Given the description of an element on the screen output the (x, y) to click on. 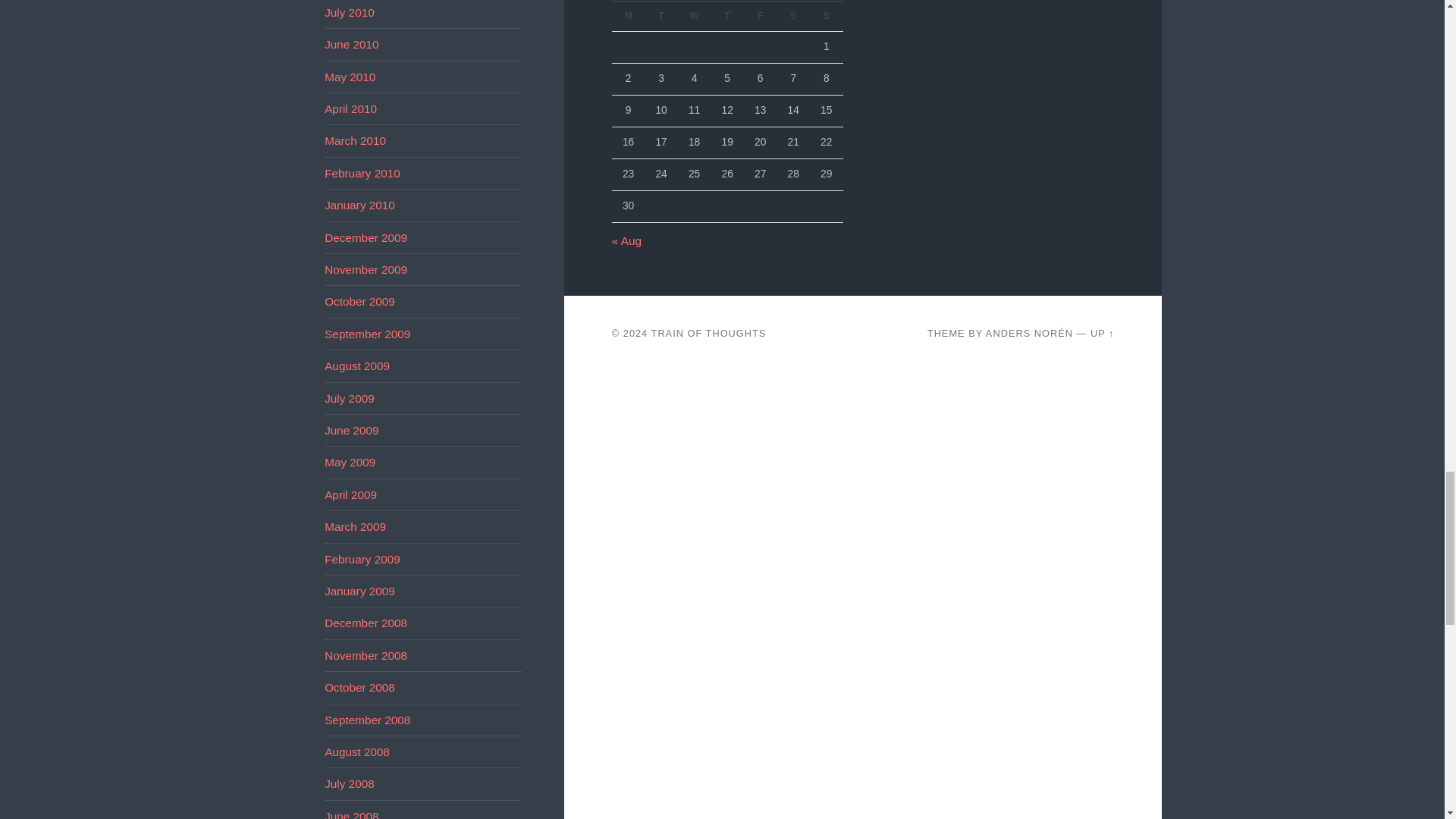
Saturday (792, 15)
Friday (760, 15)
Thursday (727, 15)
Monday (628, 15)
Wednesday (694, 15)
Tuesday (661, 15)
Sunday (826, 15)
